Given the description of an element on the screen output the (x, y) to click on. 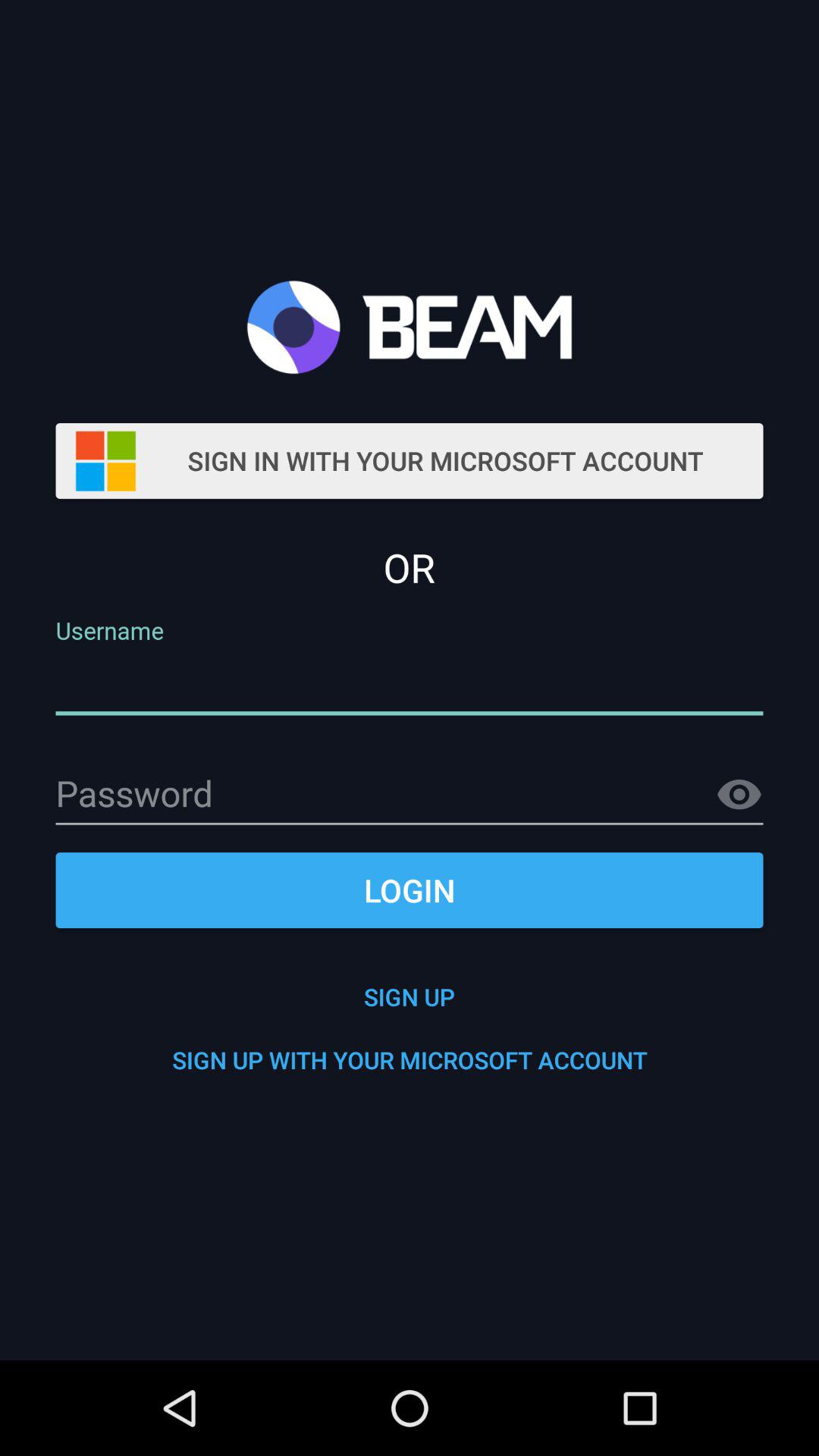
flip until login icon (409, 890)
